Given the description of an element on the screen output the (x, y) to click on. 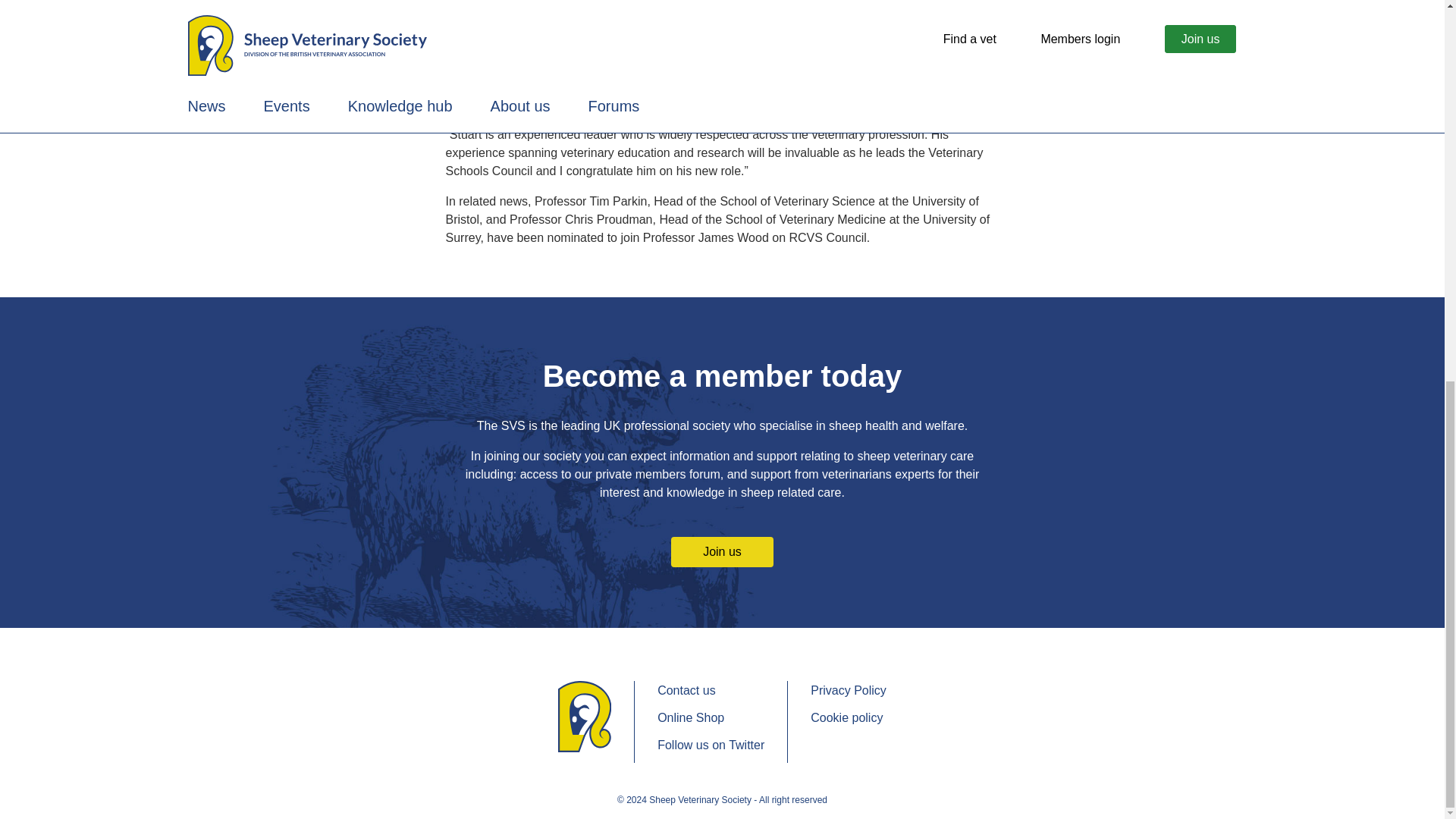
Privacy Policy (848, 690)
Join us (722, 552)
Cookie policy (848, 718)
Online Shop (711, 718)
Follow us on Twitter (711, 745)
Contact us (711, 690)
